Given the description of an element on the screen output the (x, y) to click on. 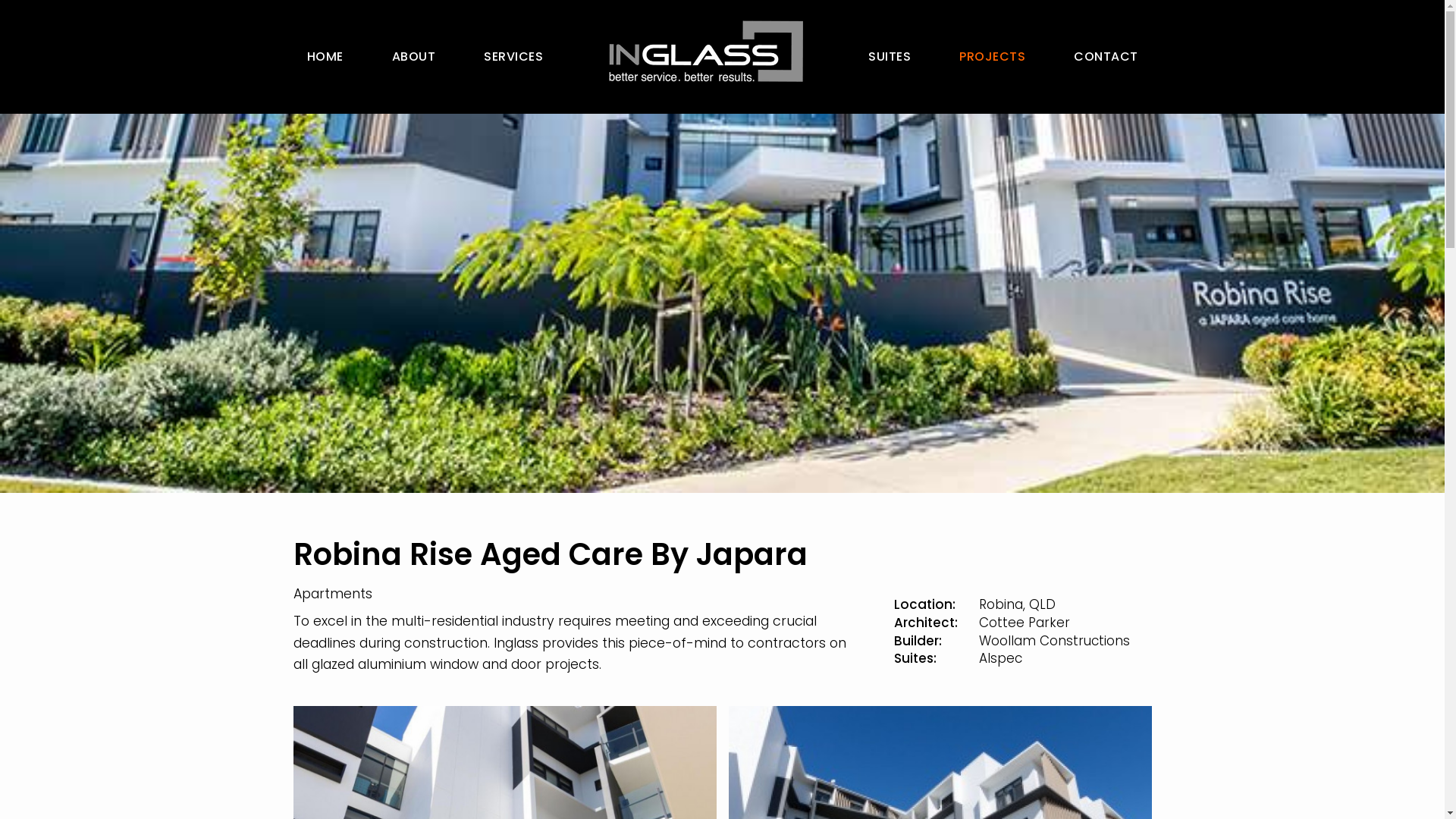
HOME Element type: text (324, 56)
SUITES Element type: text (889, 56)
CONTACT Element type: text (1105, 56)
PROJECTS Element type: text (992, 56)
SERVICES Element type: text (513, 56)
ABOUT Element type: text (413, 56)
